Given the description of an element on the screen output the (x, y) to click on. 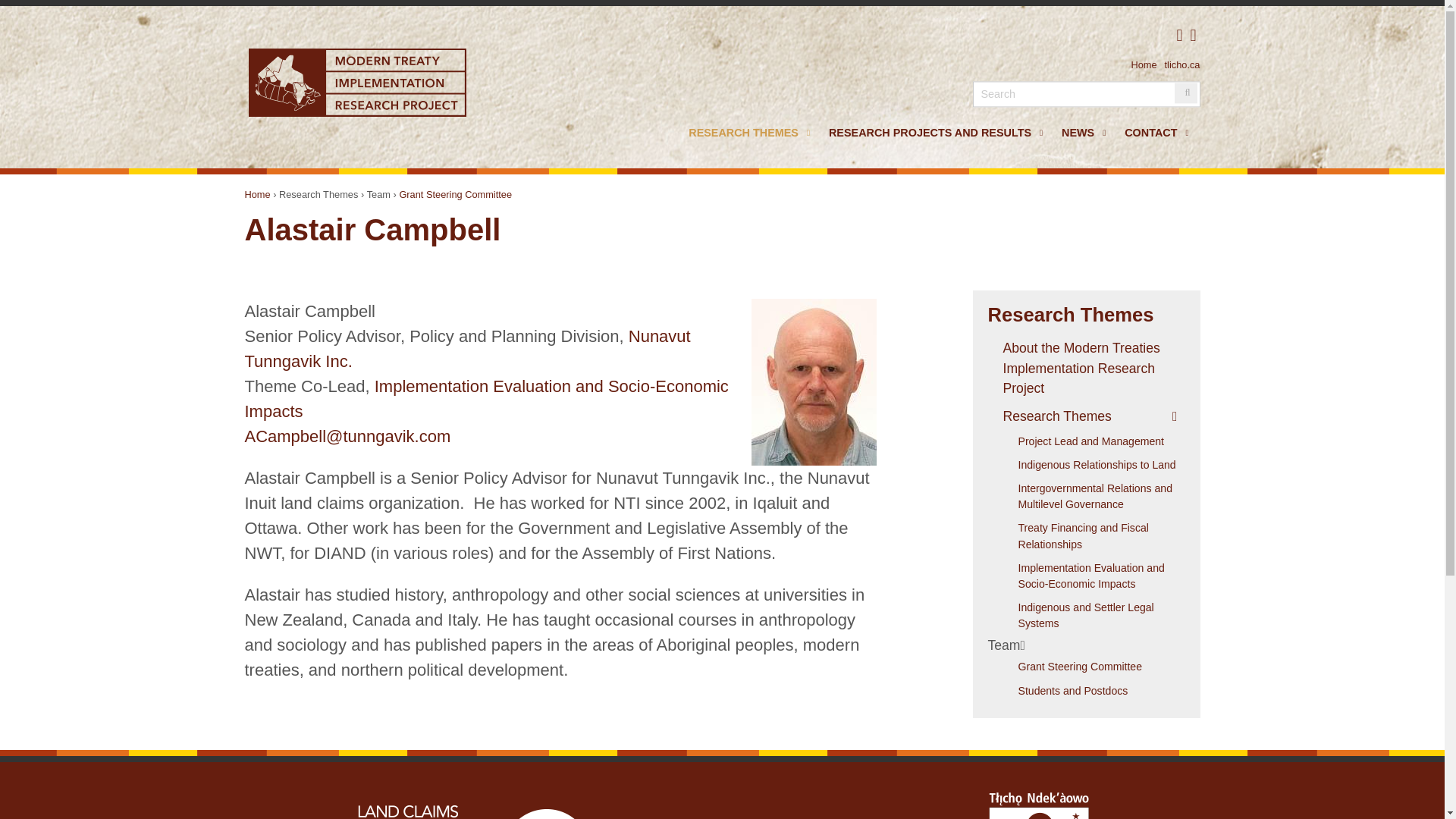
Grant Steering Committee (455, 194)
Students and Postdocs (1094, 690)
Research Themes (1086, 415)
Home (356, 82)
Home (256, 194)
Treaty Financing and Fiscal Relationships (1094, 536)
Nunavut Tunngavik Inc. (467, 348)
Intergovernmental Relations and Multilevel Governance (1094, 496)
Implementation Evaluation and Socio-Economic Impacts (1094, 576)
Indigenous and Settler Legal Systems (1094, 615)
Enter the terms you wish to search for. (1085, 94)
Indigenous Relationships to Land (1094, 464)
Project Lead and Management (1094, 441)
Implementation Evaluation and Socio-Economic Impacts (486, 398)
tlicho.ca (1181, 64)
